Given the description of an element on the screen output the (x, y) to click on. 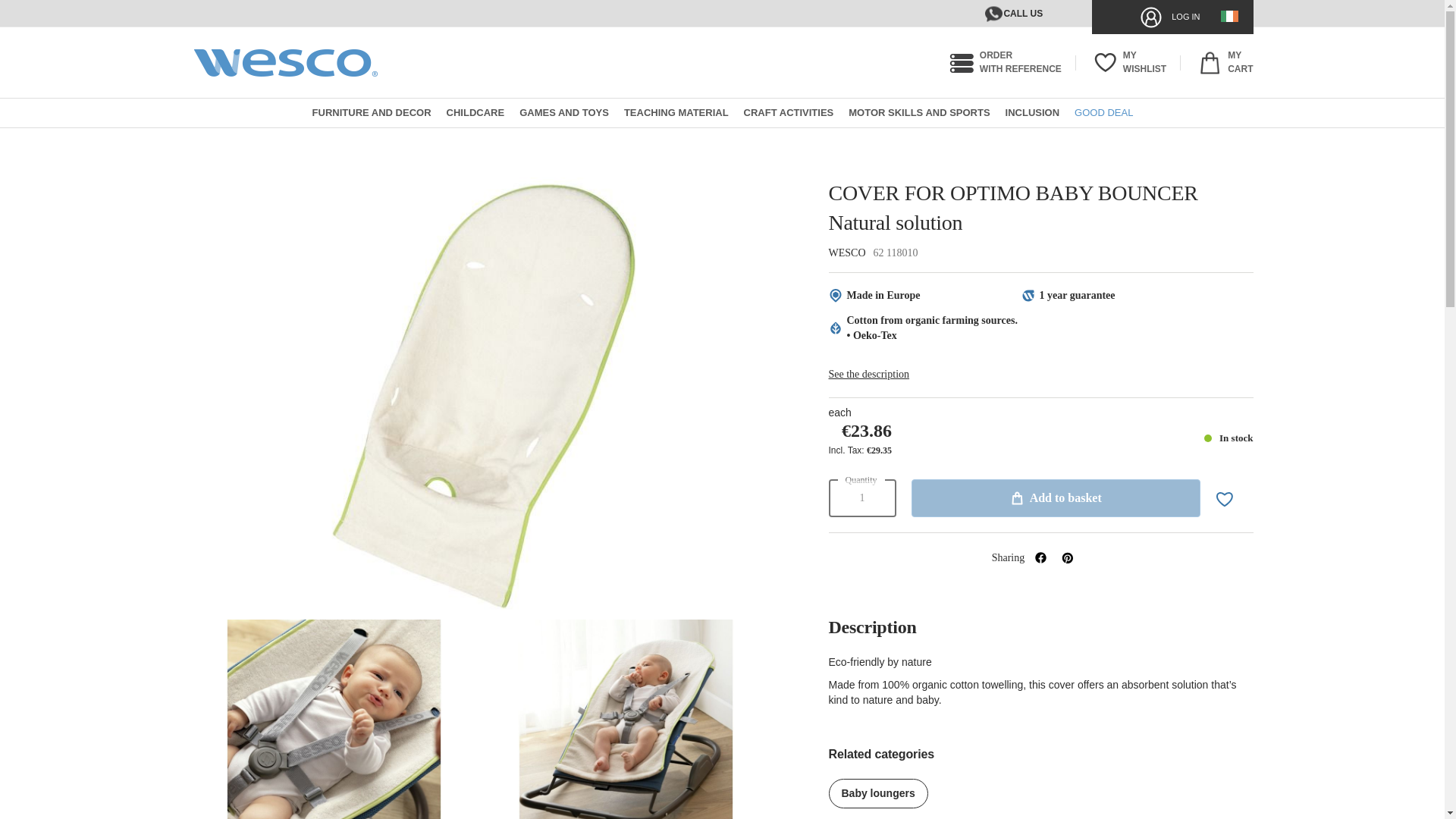
Availability (1228, 437)
1 (1127, 62)
CALL US (861, 497)
Add to basket (1010, 13)
Partager sur Facebook (1222, 62)
Quantity (1055, 497)
FURNITURE AND DECOR (1042, 555)
Partager sur Pinterest (1002, 62)
